Given the description of an element on the screen output the (x, y) to click on. 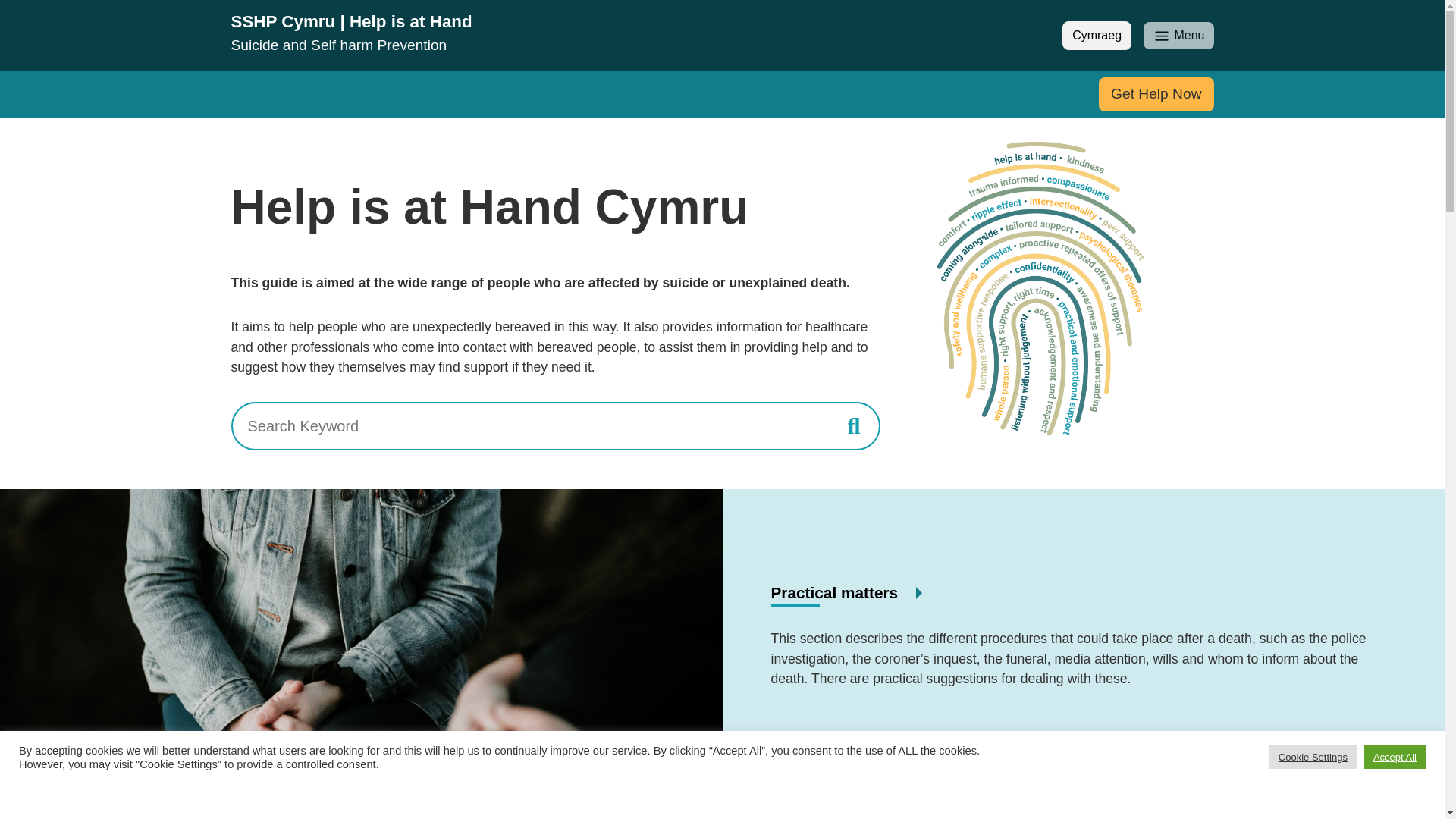
Practical matters (1096, 35)
Menu (834, 592)
Skip to main content (1177, 35)
Get Help Now (11, 7)
